Given the description of an element on the screen output the (x, y) to click on. 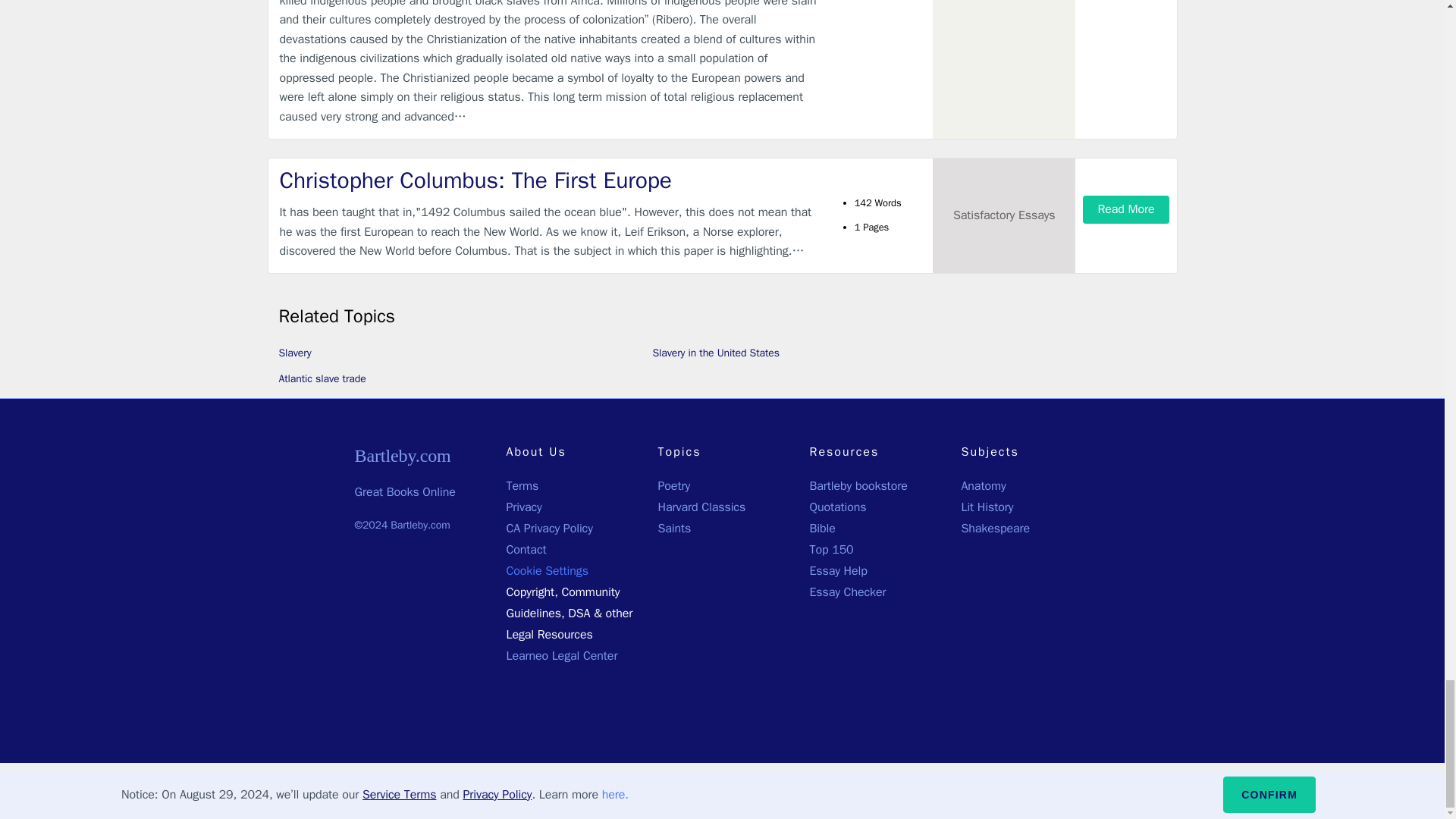
Slavery (295, 352)
Slavery in the United States (715, 352)
Atlantic slave trade (322, 378)
